Given the description of an element on the screen output the (x, y) to click on. 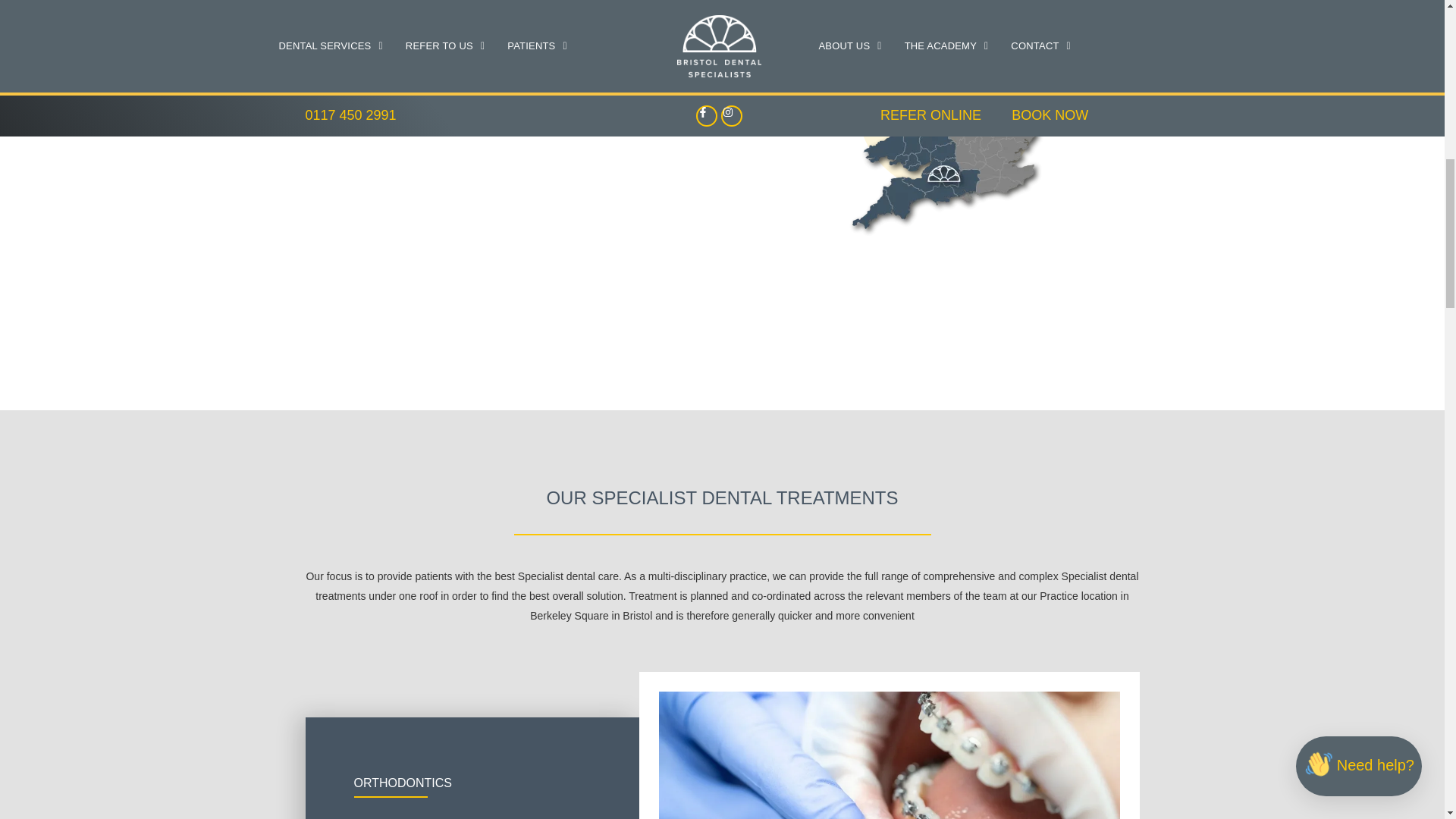
Newpatients2 (940, 125)
